Given the description of an element on the screen output the (x, y) to click on. 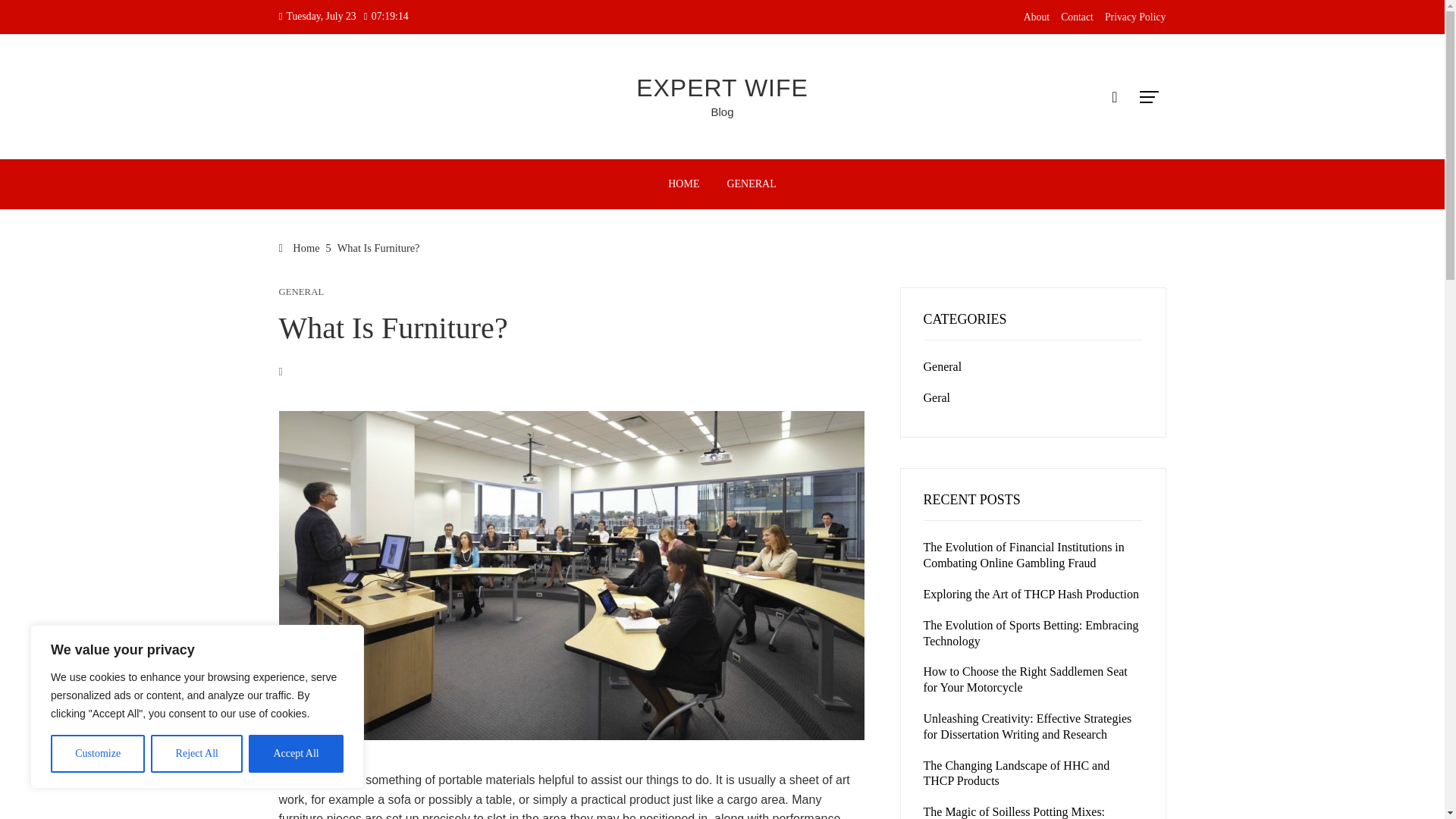
Accept All (295, 753)
EXPERT WIFE (722, 87)
General (942, 366)
Customize (97, 753)
HOME (683, 183)
GENERAL (301, 292)
Contact (1077, 17)
Reject All (197, 753)
Privacy Policy (1135, 17)
Home (299, 247)
Blog (721, 111)
GENERAL (750, 183)
